Given the description of an element on the screen output the (x, y) to click on. 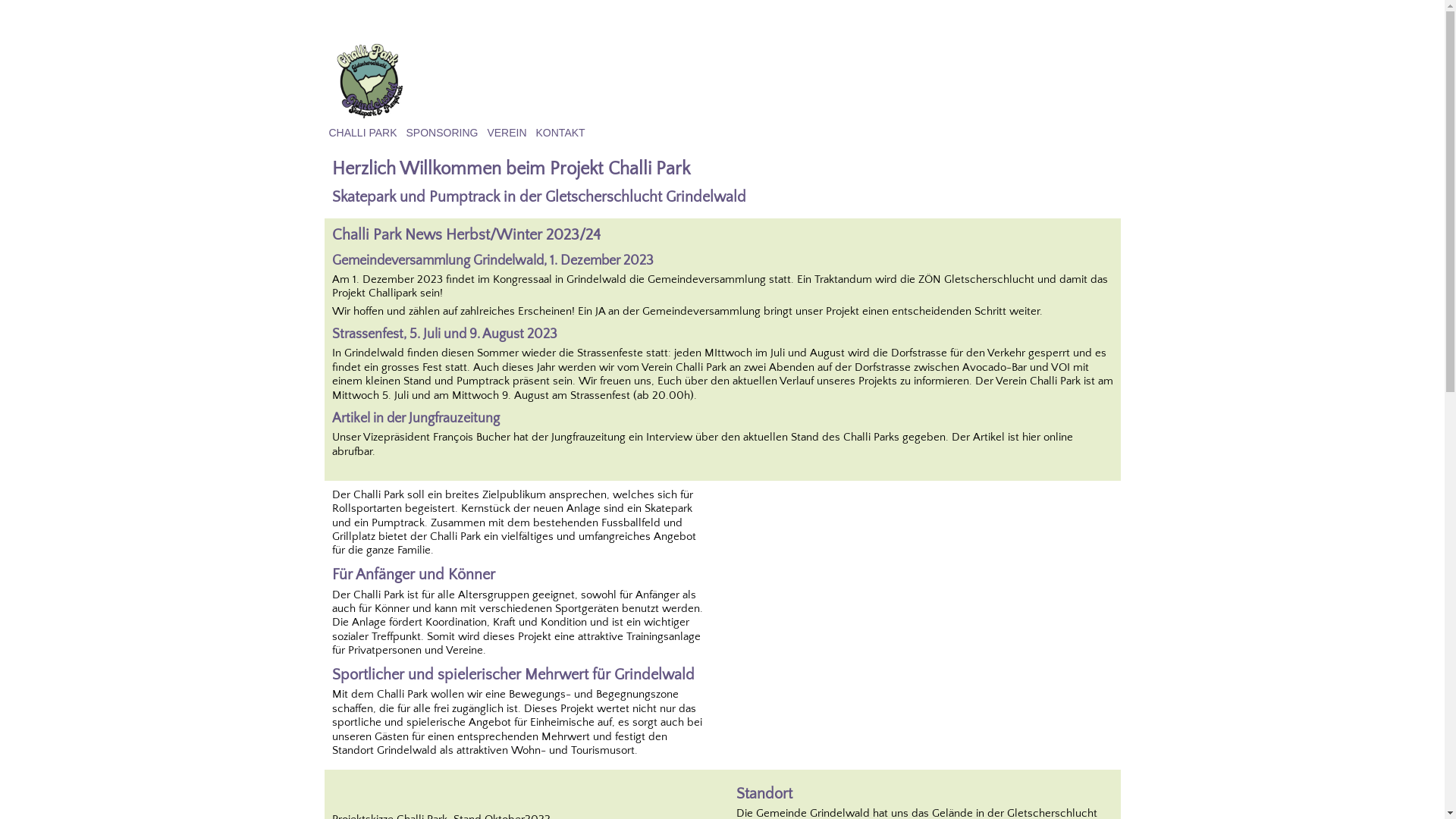
VEREIN Element type: text (506, 132)
SPONSORING Element type: text (442, 132)
Der Artikel ist hier online abrufbar. Element type: text (702, 443)
CHALLI PARK Element type: text (362, 132)
KONTAKT Element type: text (560, 132)
